Given the description of an element on the screen output the (x, y) to click on. 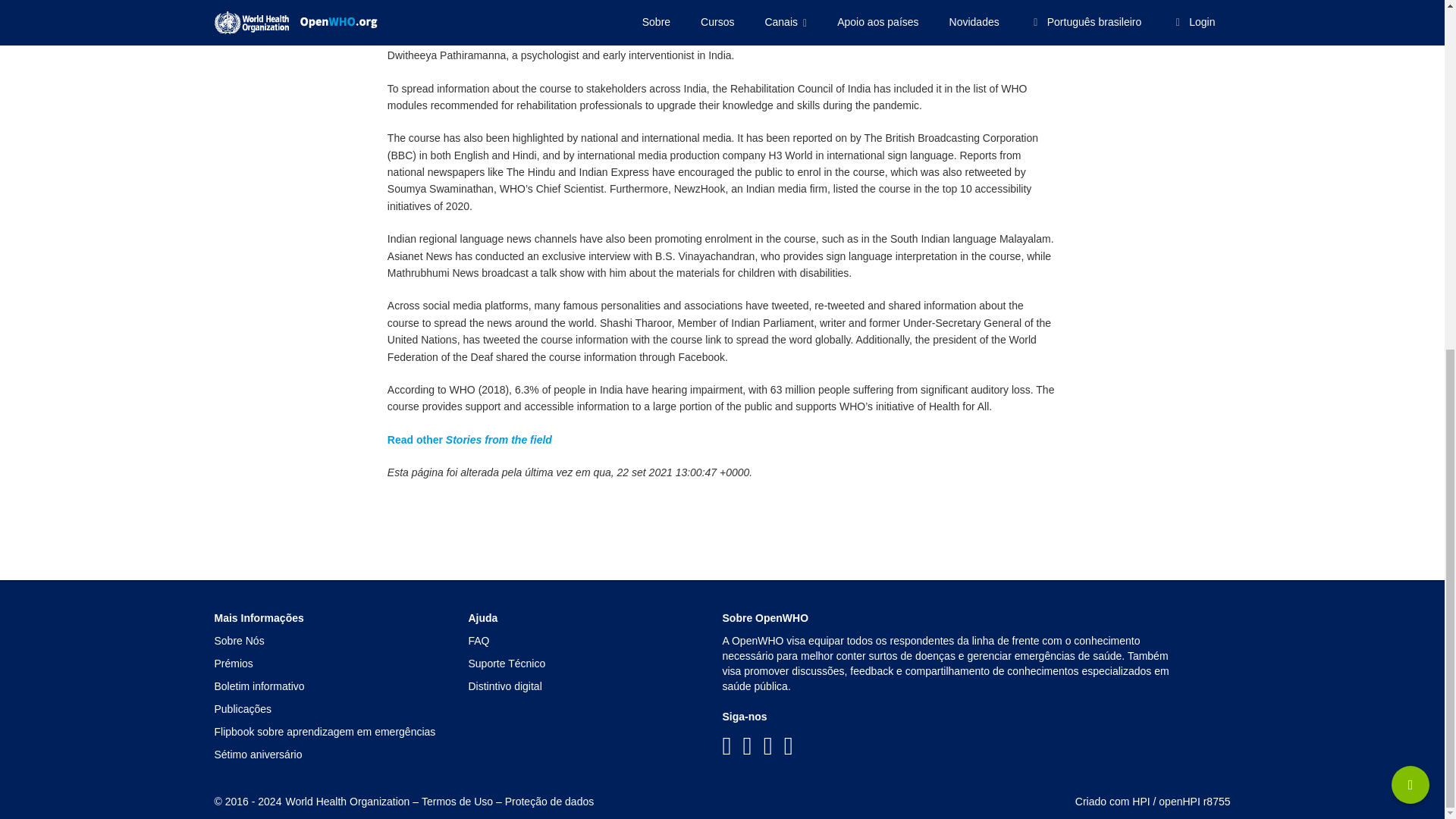
World Health Organization (347, 801)
Boletim informativo (259, 686)
openHPI (1178, 801)
Termos de Uso (457, 801)
Distintivo digital (504, 686)
FAQ (478, 640)
HPI (1141, 801)
